Given the description of an element on the screen output the (x, y) to click on. 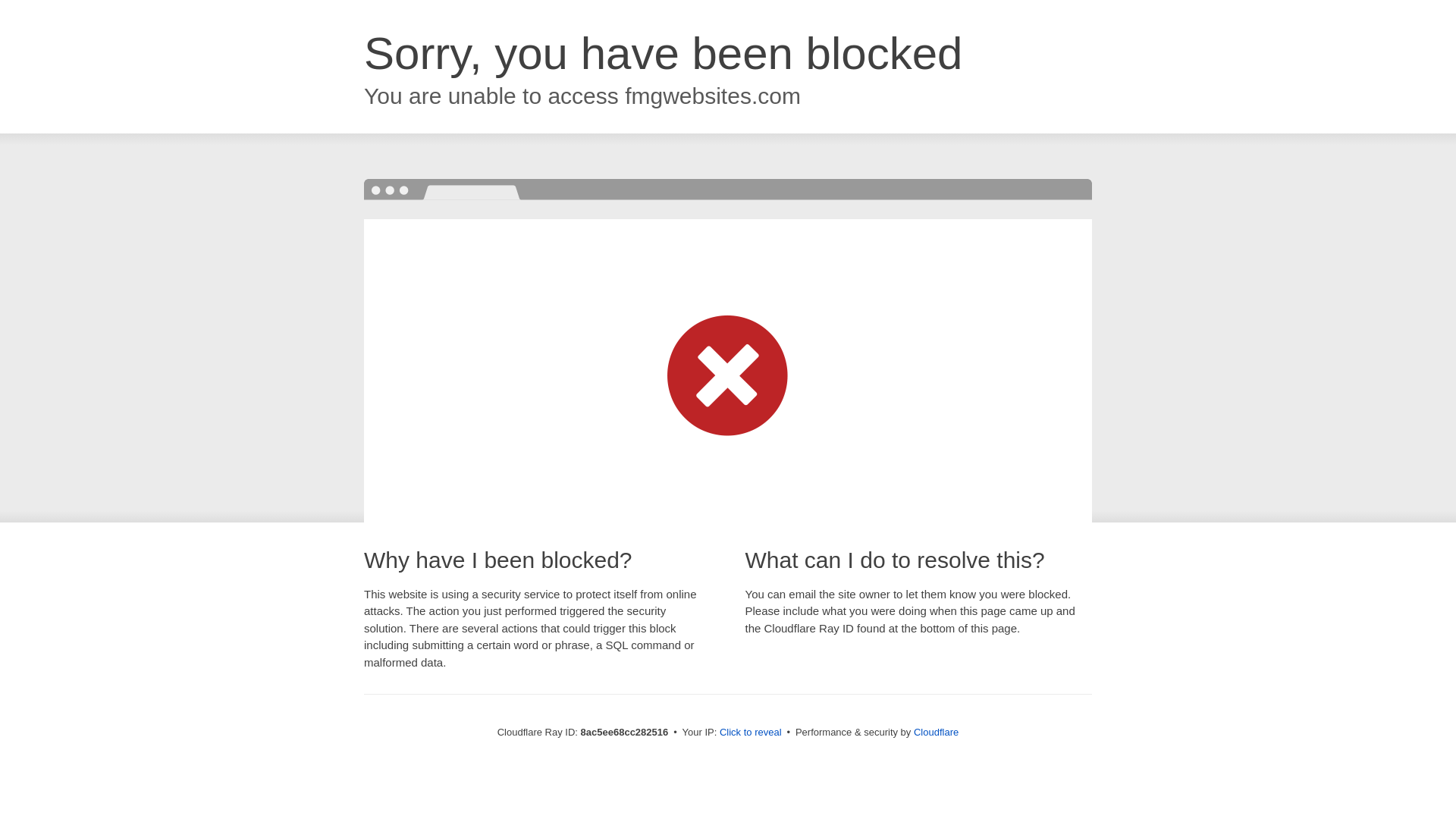
Cloudflare (936, 731)
Click to reveal (750, 732)
